Given the description of an element on the screen output the (x, y) to click on. 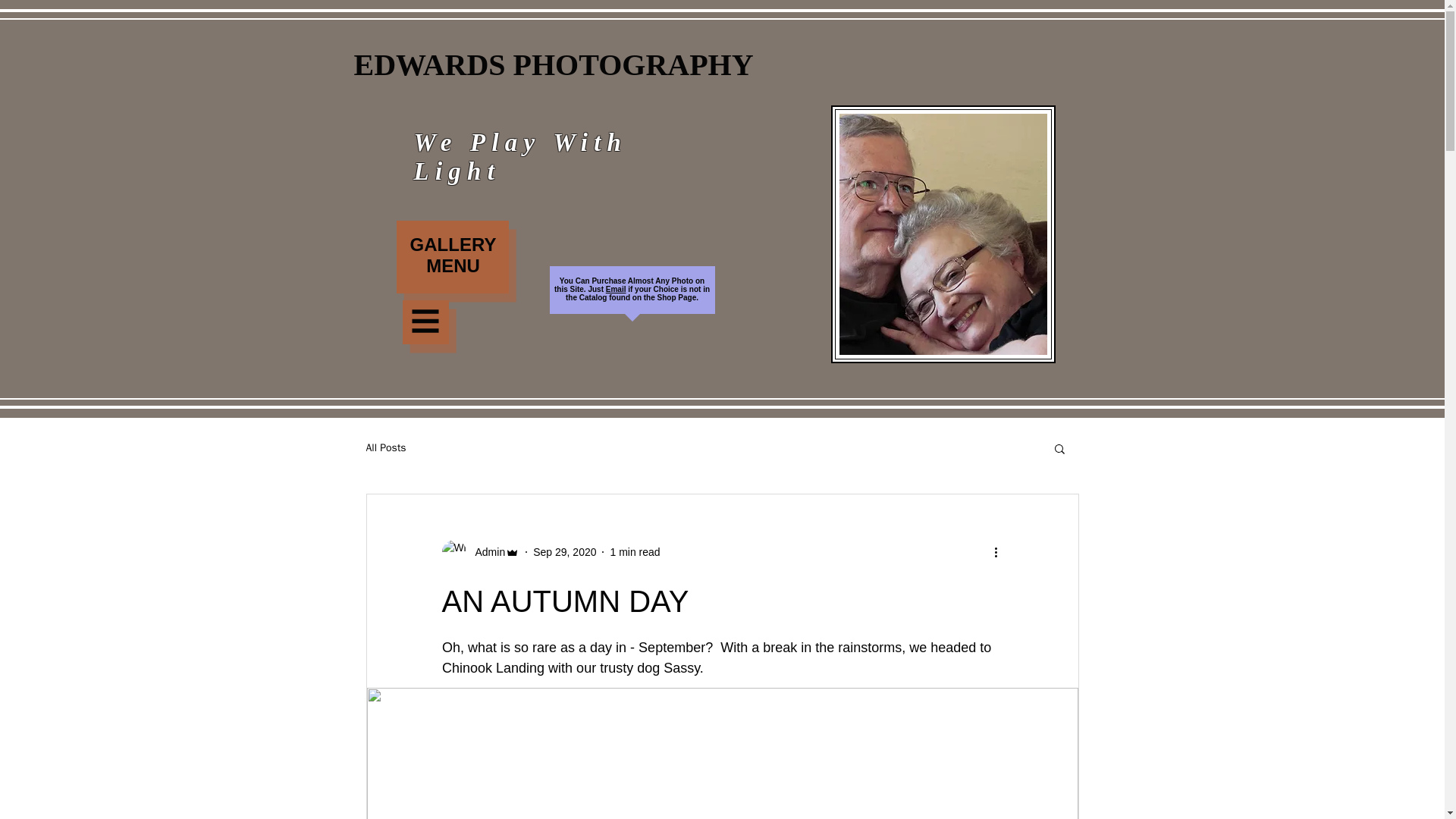
All Posts (385, 448)
Admin (485, 552)
EDWARDS PHOTOGRAPHY (553, 64)
1 min read (634, 551)
Admin (480, 551)
Log In (1014, 294)
Sep 29, 2020 (563, 551)
Email (615, 289)
